Given the description of an element on the screen output the (x, y) to click on. 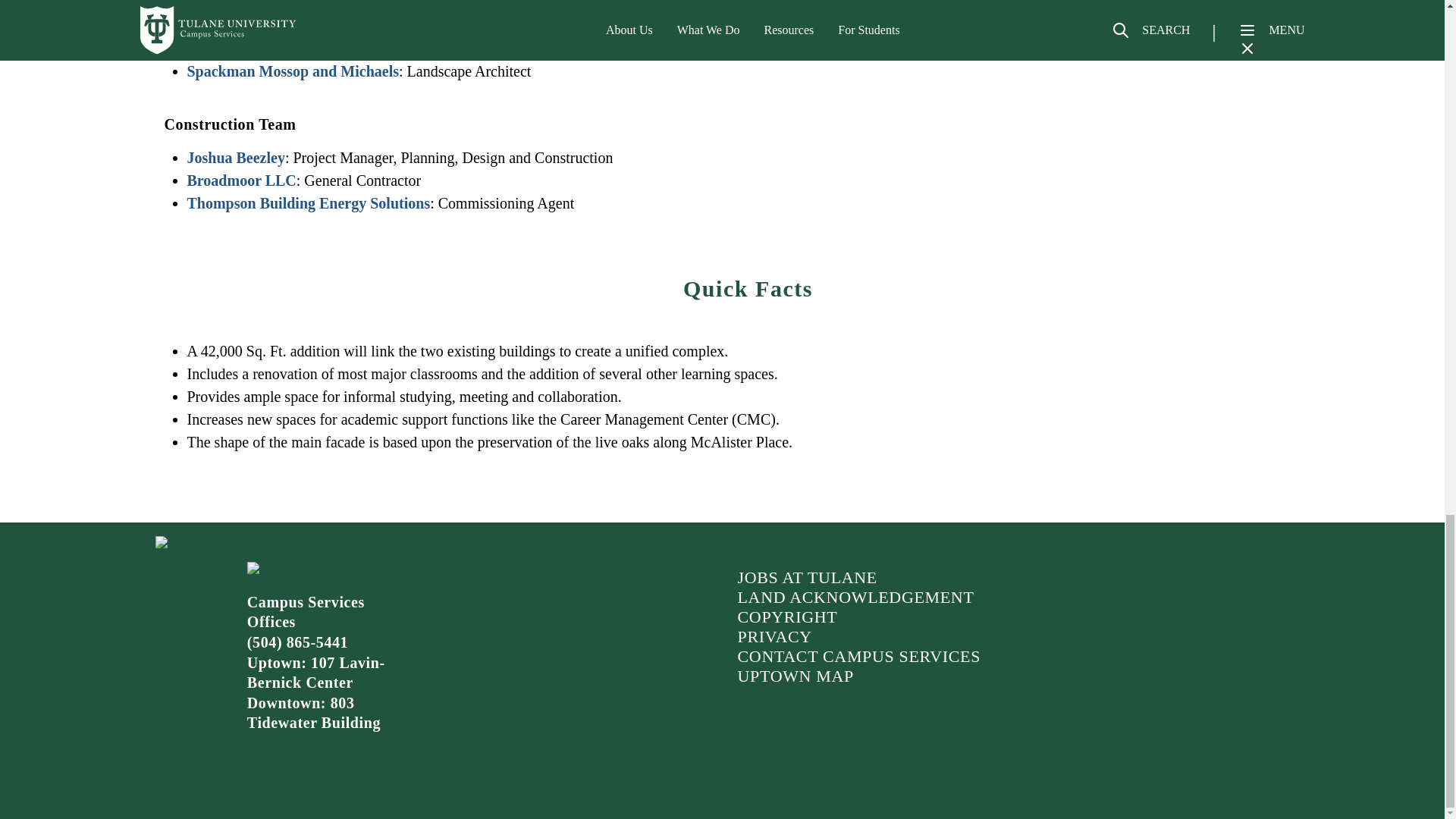
Cline Bettridge Bernstein Lighting Design (322, 25)
Thompson Building Energy Solutions (307, 202)
Broadmoor LLC (240, 180)
Spackman Mossop and Michaels (292, 71)
